Given the description of an element on the screen output the (x, y) to click on. 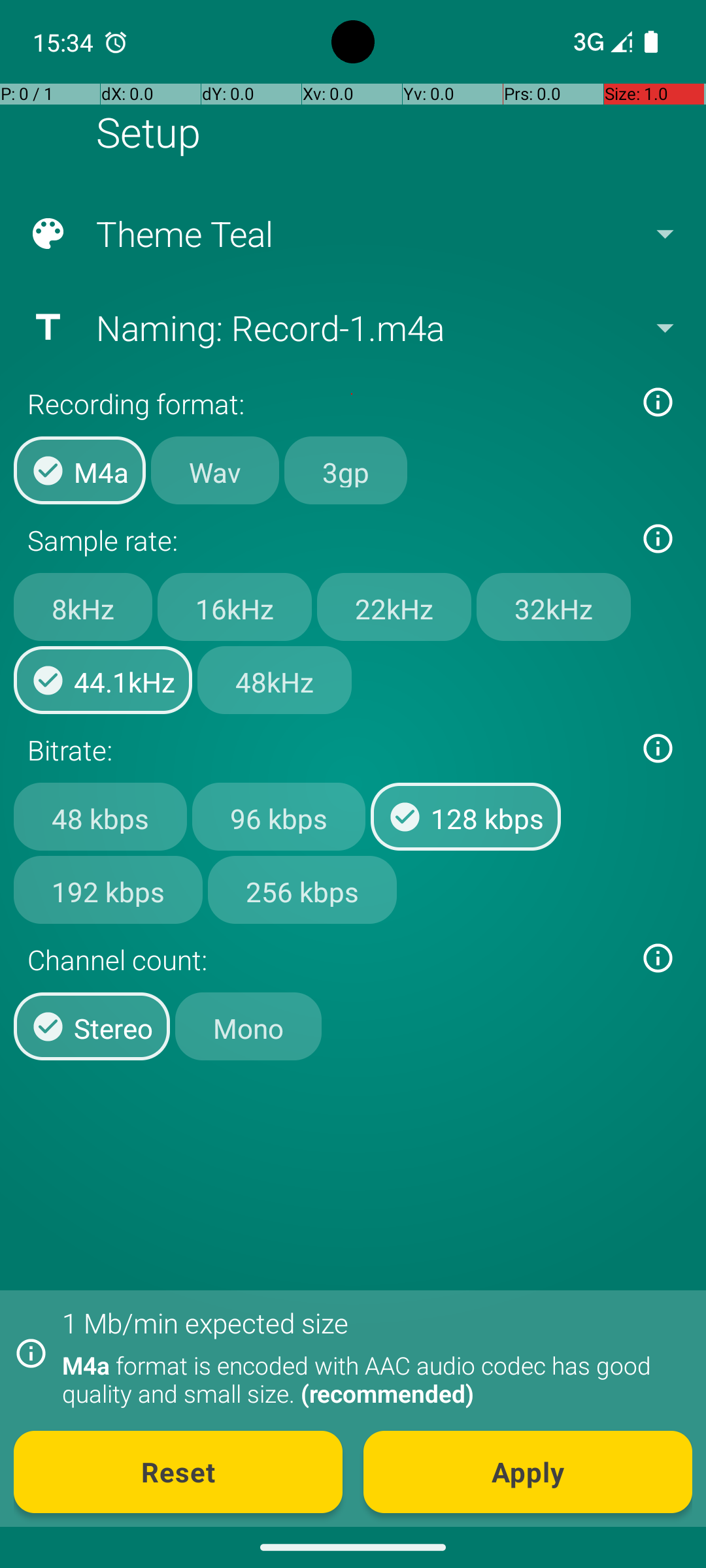
Clock notification: Missed alarm Element type: android.widget.ImageView (115, 41)
